Given the description of an element on the screen output the (x, y) to click on. 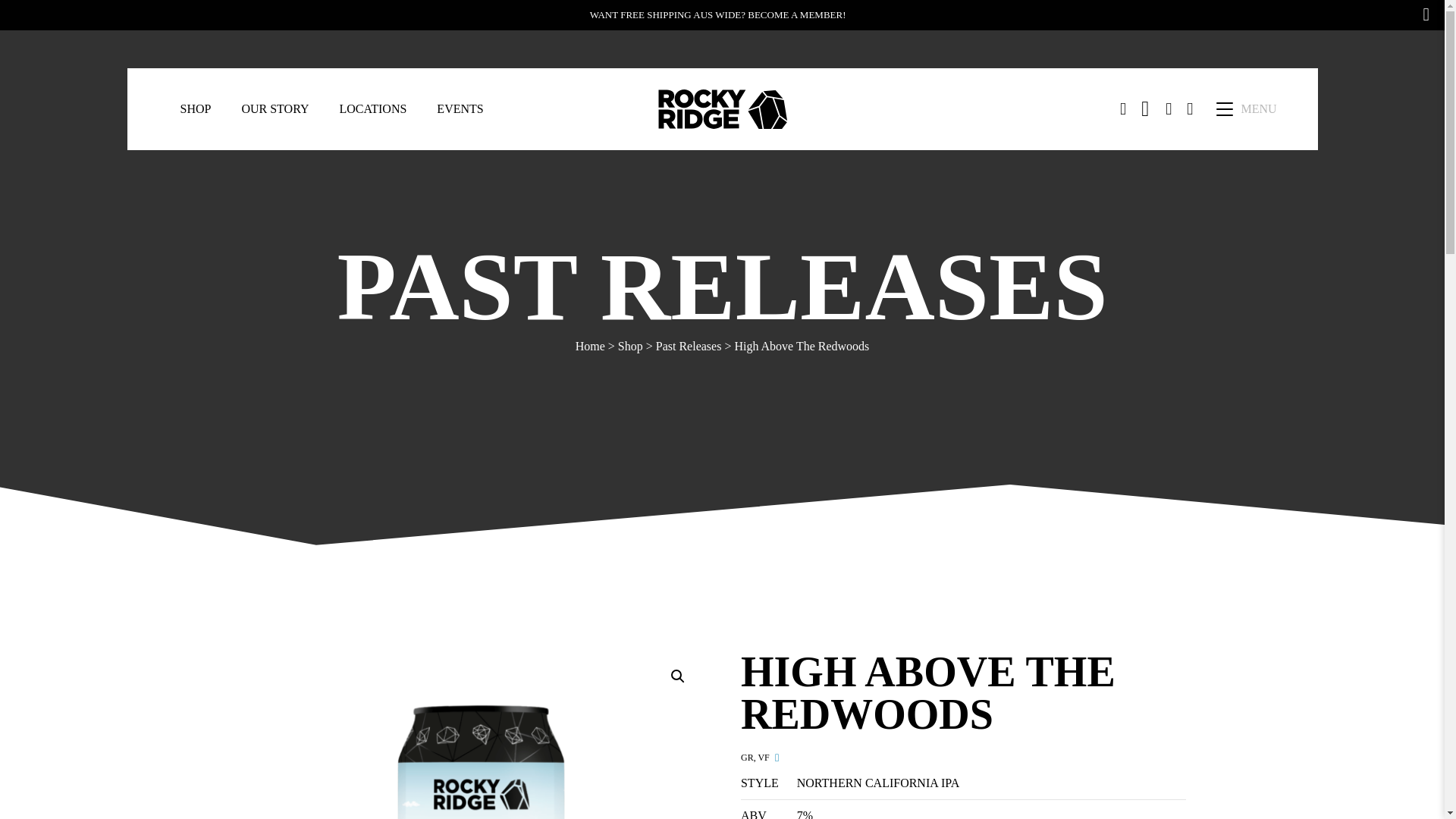
OUR STORY (274, 108)
Home (590, 345)
View your shopping cart (1189, 108)
EVENTS (459, 108)
Shop (630, 345)
Open menu (1224, 109)
Insta Can Render - Pink Boots (925, 734)
SHOP (196, 108)
LOCATIONS (372, 108)
BECOME A MEMBER!  (798, 14)
